Given the description of an element on the screen output the (x, y) to click on. 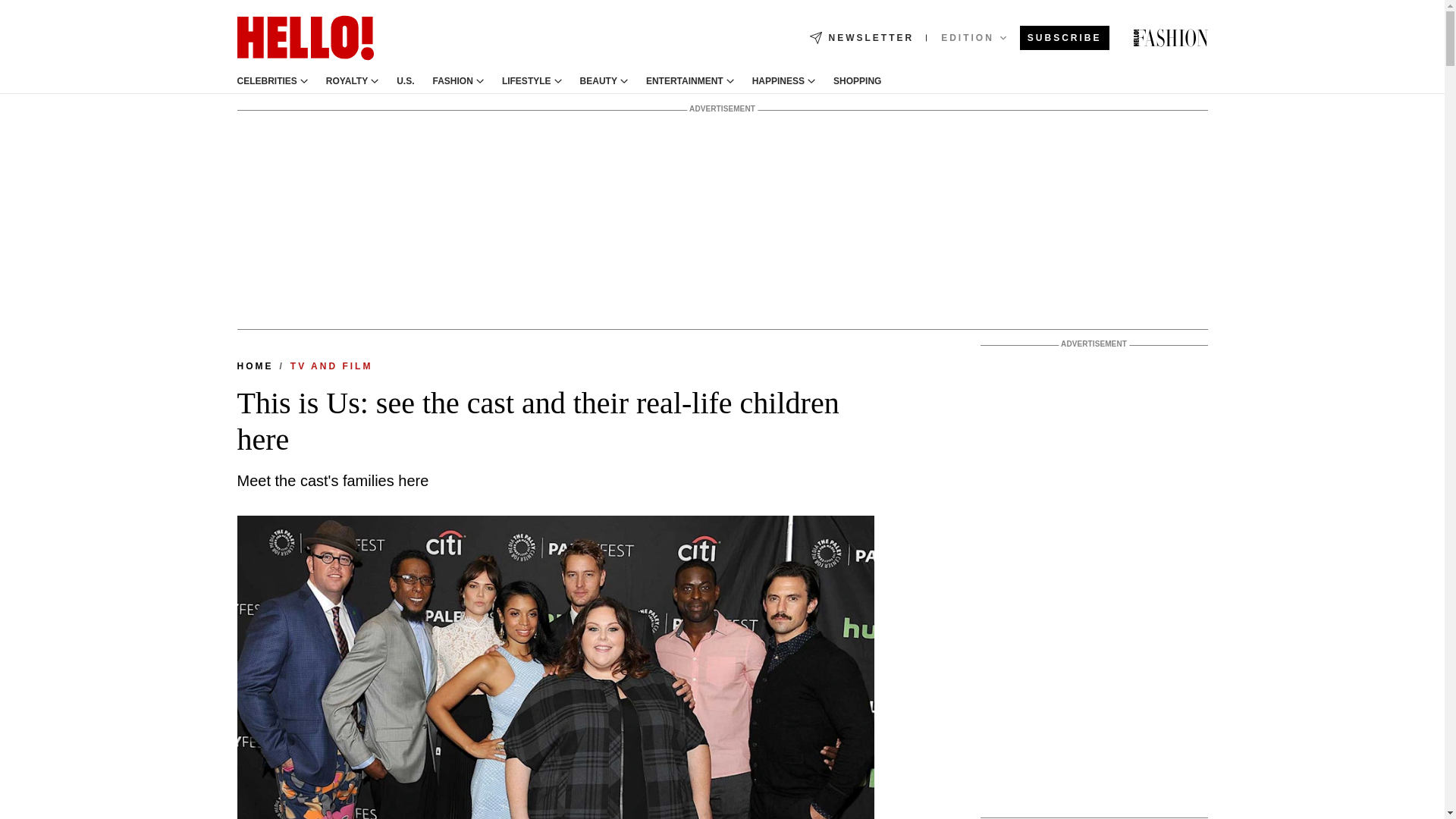
BEAUTY (598, 81)
FASHION (452, 81)
ROYALTY (347, 81)
NEWSLETTER (861, 38)
CELEBRITIES (266, 81)
U.S. (404, 81)
